Given the description of an element on the screen output the (x, y) to click on. 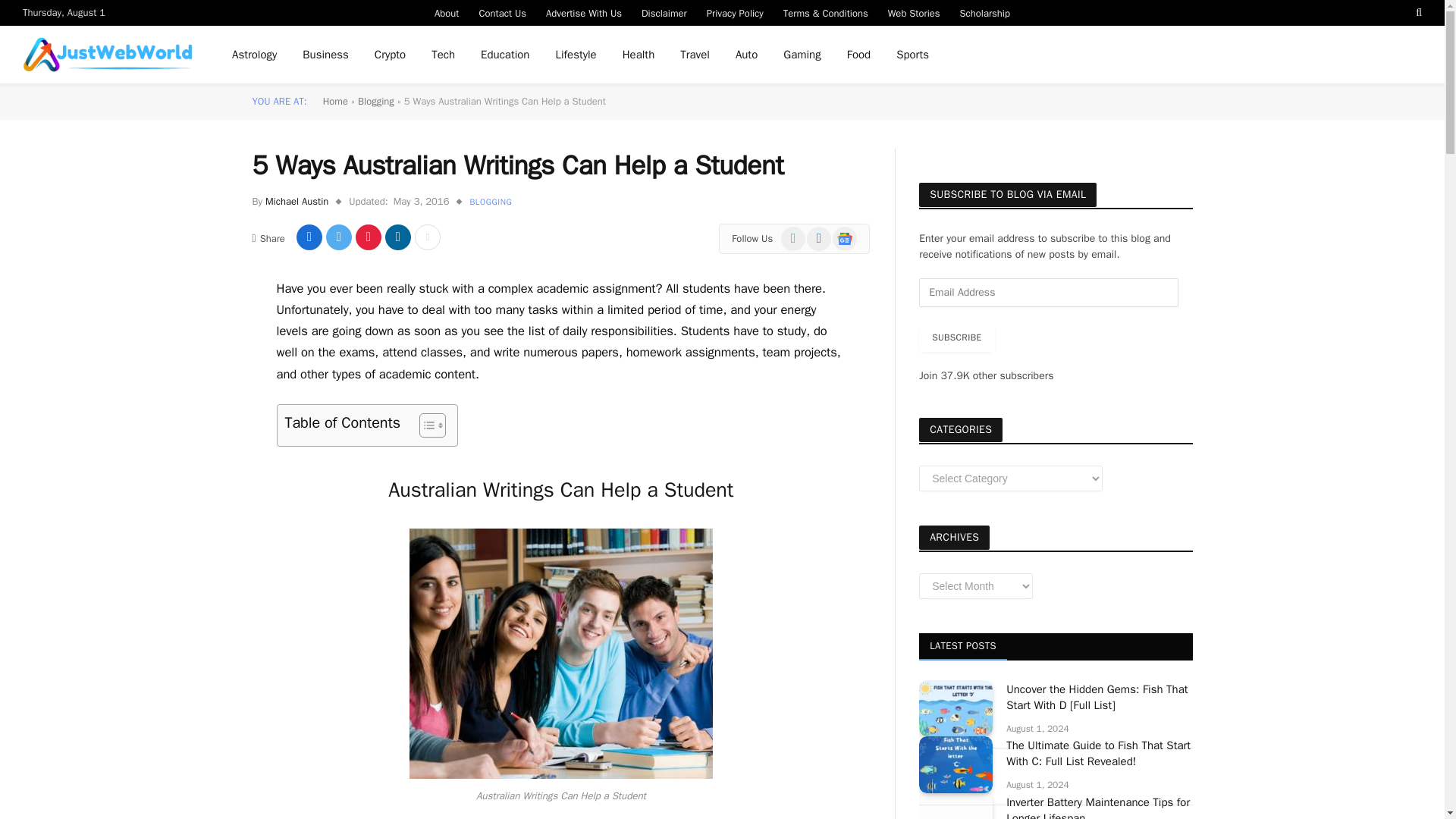
Share on Pinterest (368, 237)
JustWebWorld (107, 54)
Business (325, 54)
Sports (912, 54)
Travel (694, 54)
Contact Us (501, 12)
Gaming (801, 54)
Health (639, 54)
Astrology (254, 54)
Education (504, 54)
Disclaimer (664, 12)
Advertise With Us (583, 12)
Lifestyle (574, 54)
Posts by Michael Austin (296, 201)
Share on LinkedIn (397, 237)
